Given the description of an element on the screen output the (x, y) to click on. 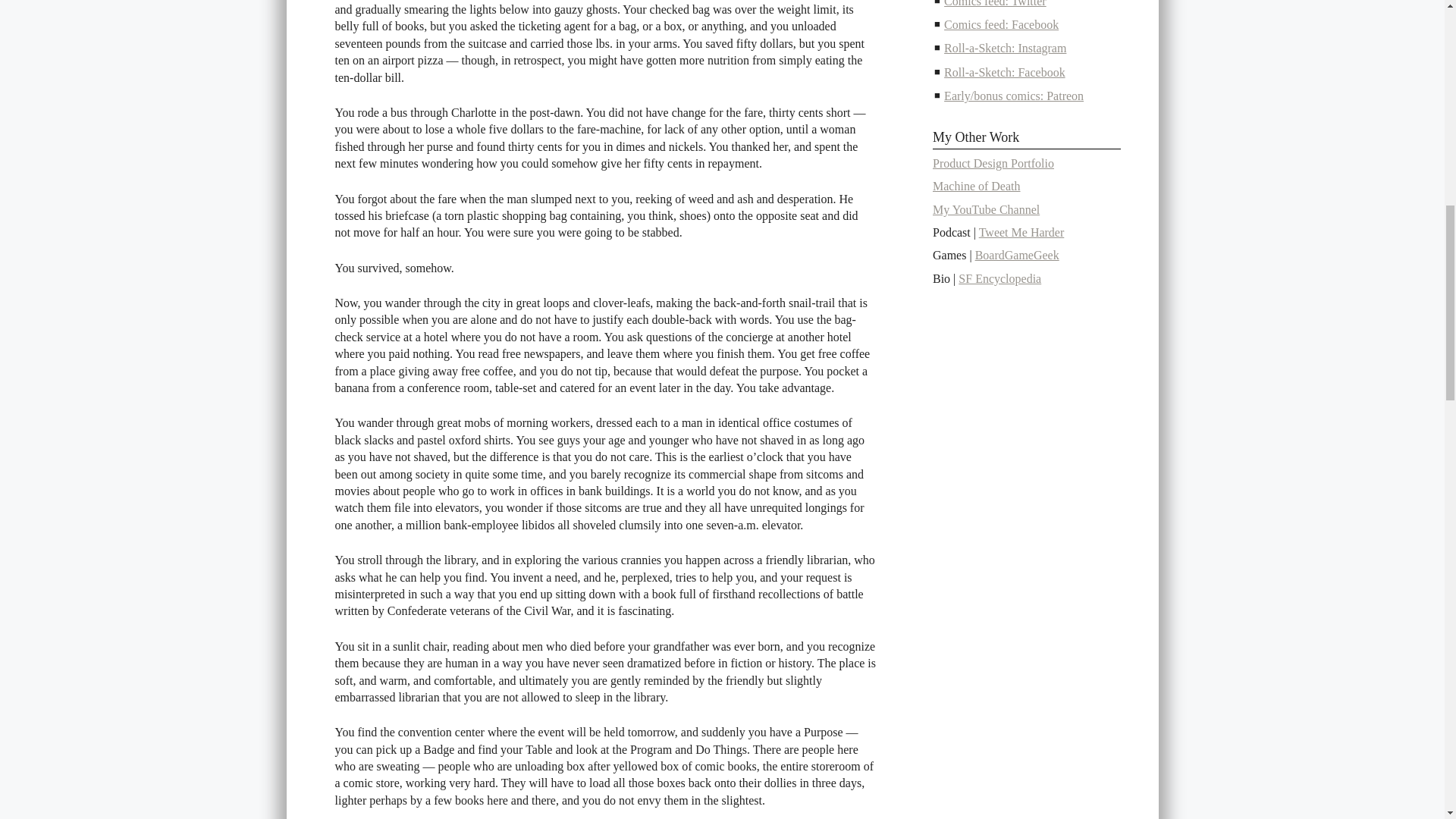
Comics feed: Twitter (994, 3)
Roll-a-Sketch: Instagram (1004, 47)
Comics feed: Facebook (1000, 24)
Scroll back to top (1394, 704)
Roll-a-Sketch: Facebook (1004, 72)
